Given the description of an element on the screen output the (x, y) to click on. 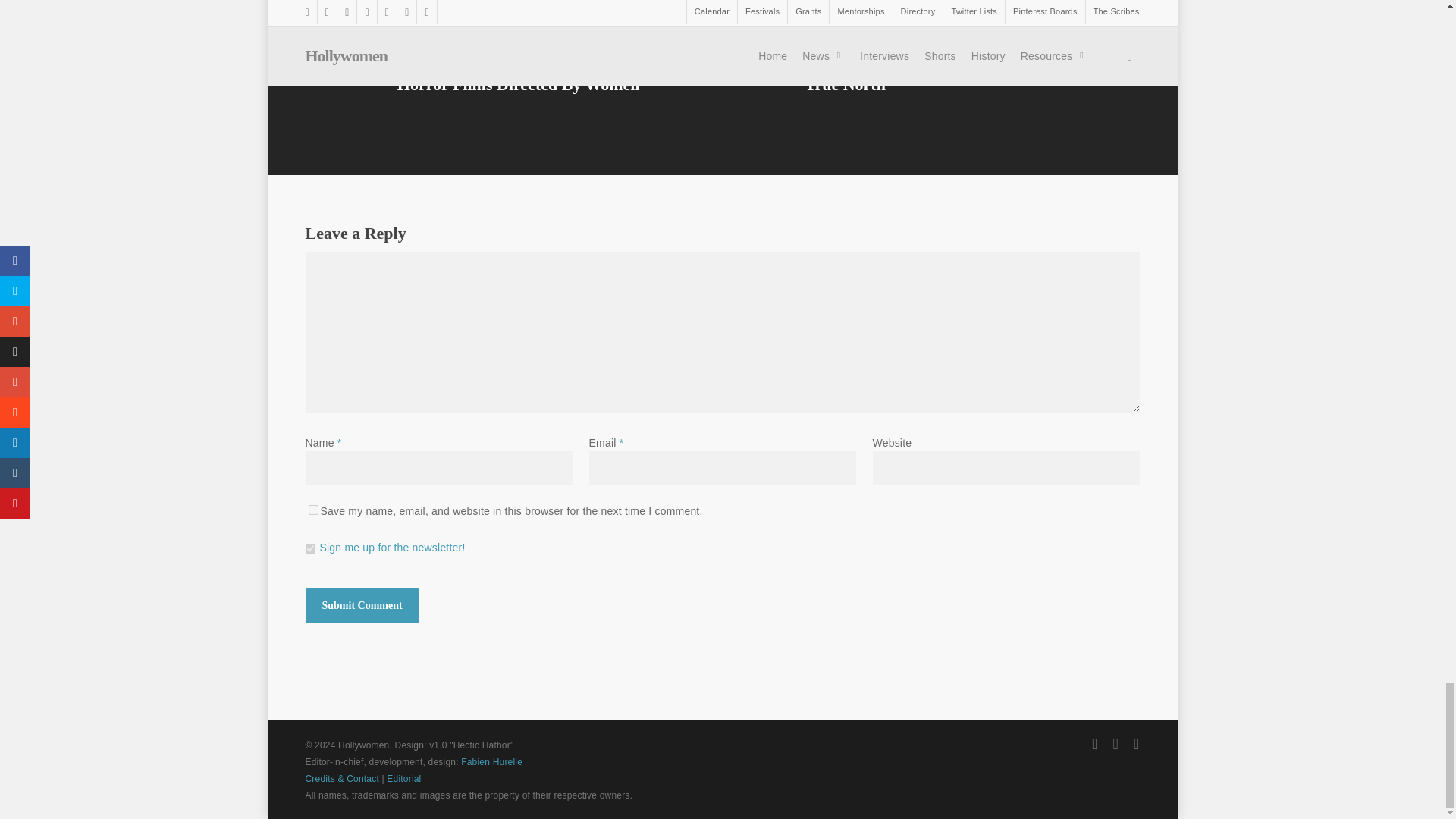
1 (309, 548)
yes (312, 510)
Submit Comment (361, 605)
